Given the description of an element on the screen output the (x, y) to click on. 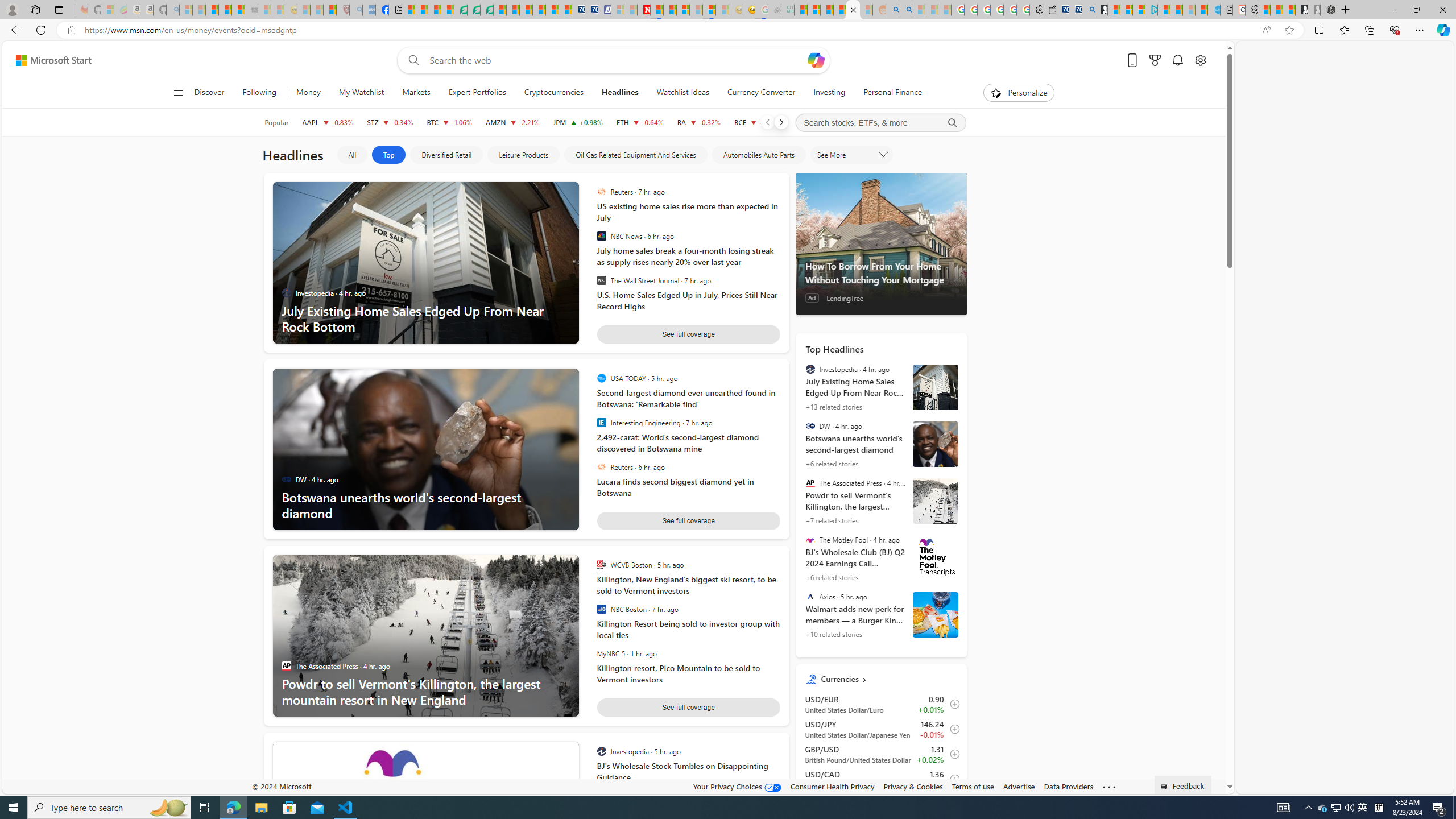
Your Privacy Choices (737, 786)
The Motley Fool (810, 539)
Microsoft Start - Sleeping (1188, 9)
Add to Watchlist (952, 779)
Terms of Use Agreement (473, 9)
WCVB Boston 5 hr. ago (685, 565)
